Given the description of an element on the screen output the (x, y) to click on. 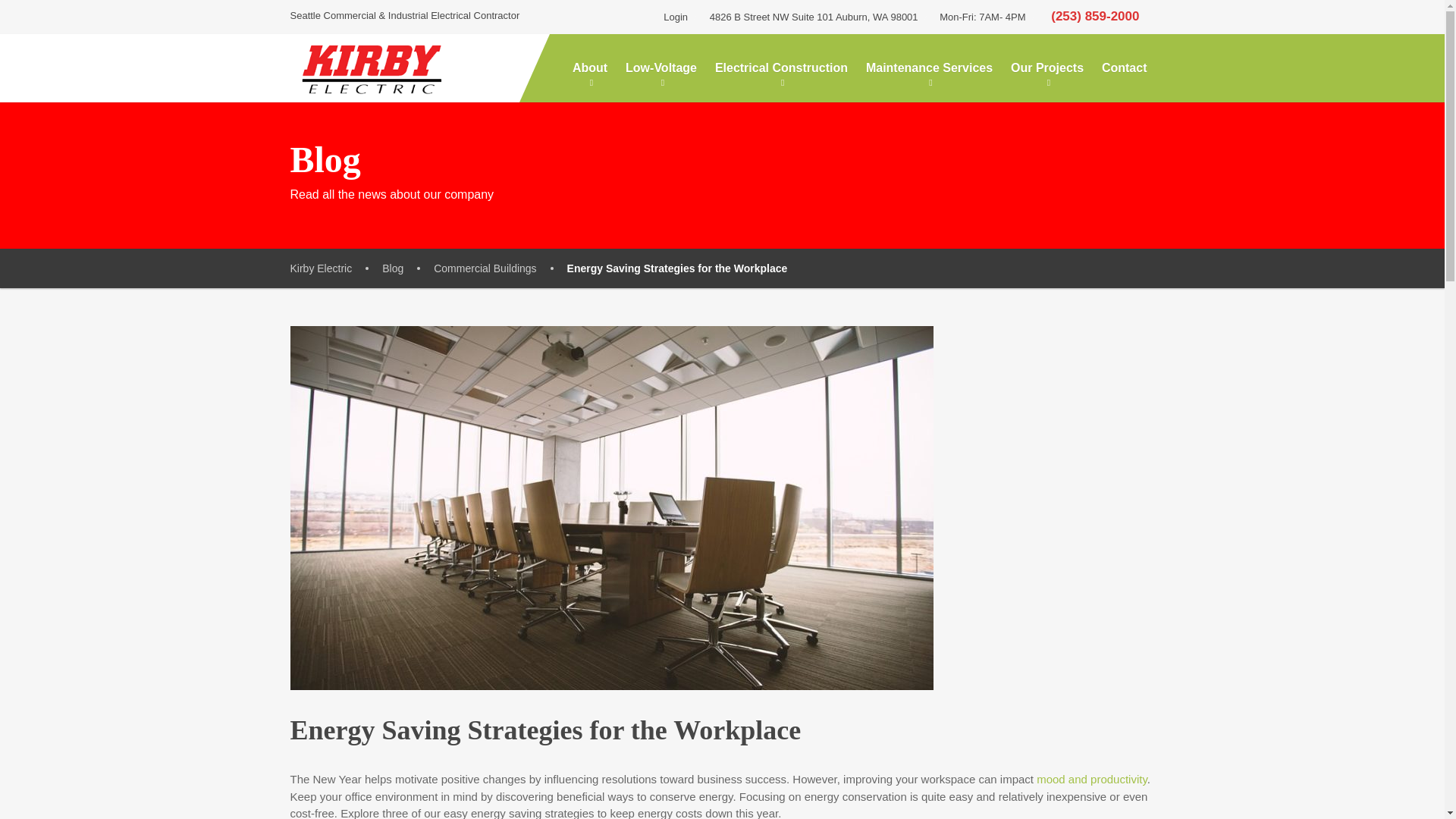
Login (672, 16)
Low-Voltage (660, 68)
Kirby Electric (370, 67)
Kirby Electric (335, 268)
About (589, 68)
Our Projects (1046, 68)
Contact (1124, 68)
Go to Blog. (407, 268)
Blog (407, 268)
Commercial Buildings (499, 268)
mood and productivity (1091, 779)
Electrical Construction (781, 68)
Maintenance Services (929, 68)
Go to the Commercial Buildings category archives. (499, 268)
Go to Kirby Electric. (335, 268)
